Given the description of an element on the screen output the (x, y) to click on. 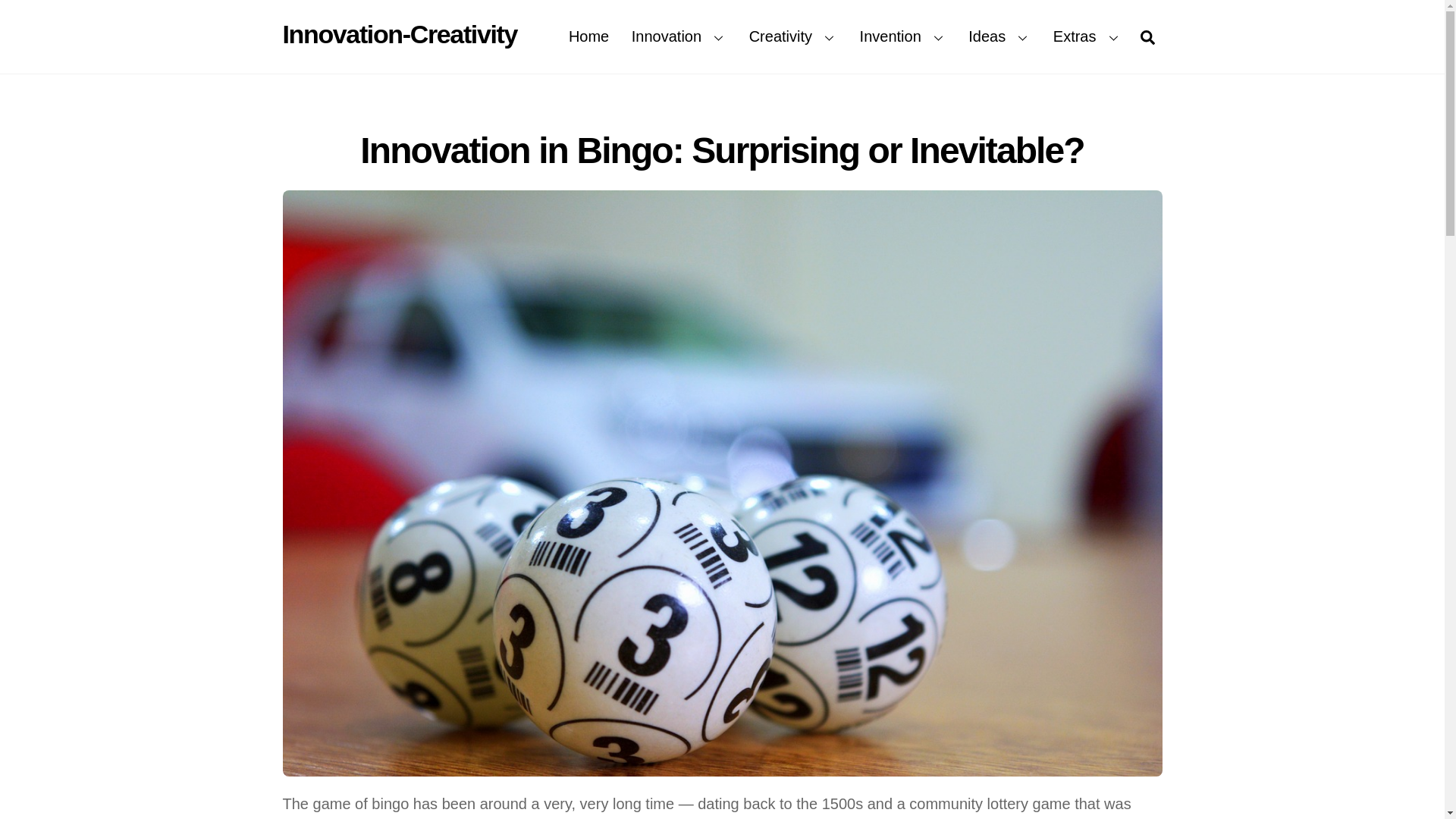
Home (588, 36)
Creativity (792, 36)
Search (1146, 36)
Innovation-Creativity (399, 33)
Innovation (679, 36)
Innovation-Creativity (399, 33)
